Given the description of an element on the screen output the (x, y) to click on. 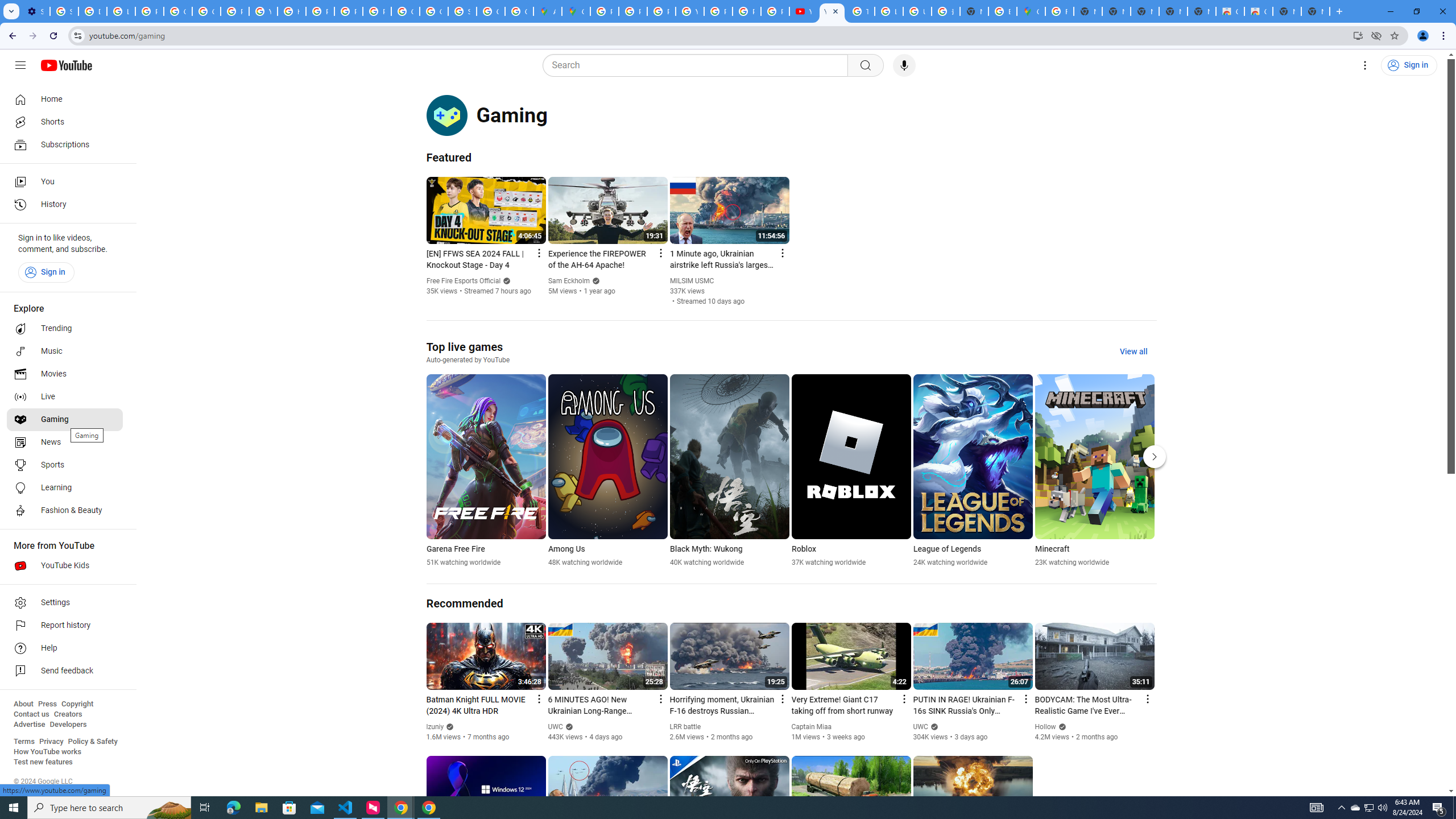
Movies (64, 373)
Minecraft 23K watching worldwide (1094, 470)
Explore new street-level details - Google Maps Help (1002, 11)
Captain Miaa (811, 726)
Test new features (42, 761)
Top live games Auto-generated by YouTube (467, 352)
YouTube (263, 11)
LRR battle (685, 726)
